Given the description of an element on the screen output the (x, y) to click on. 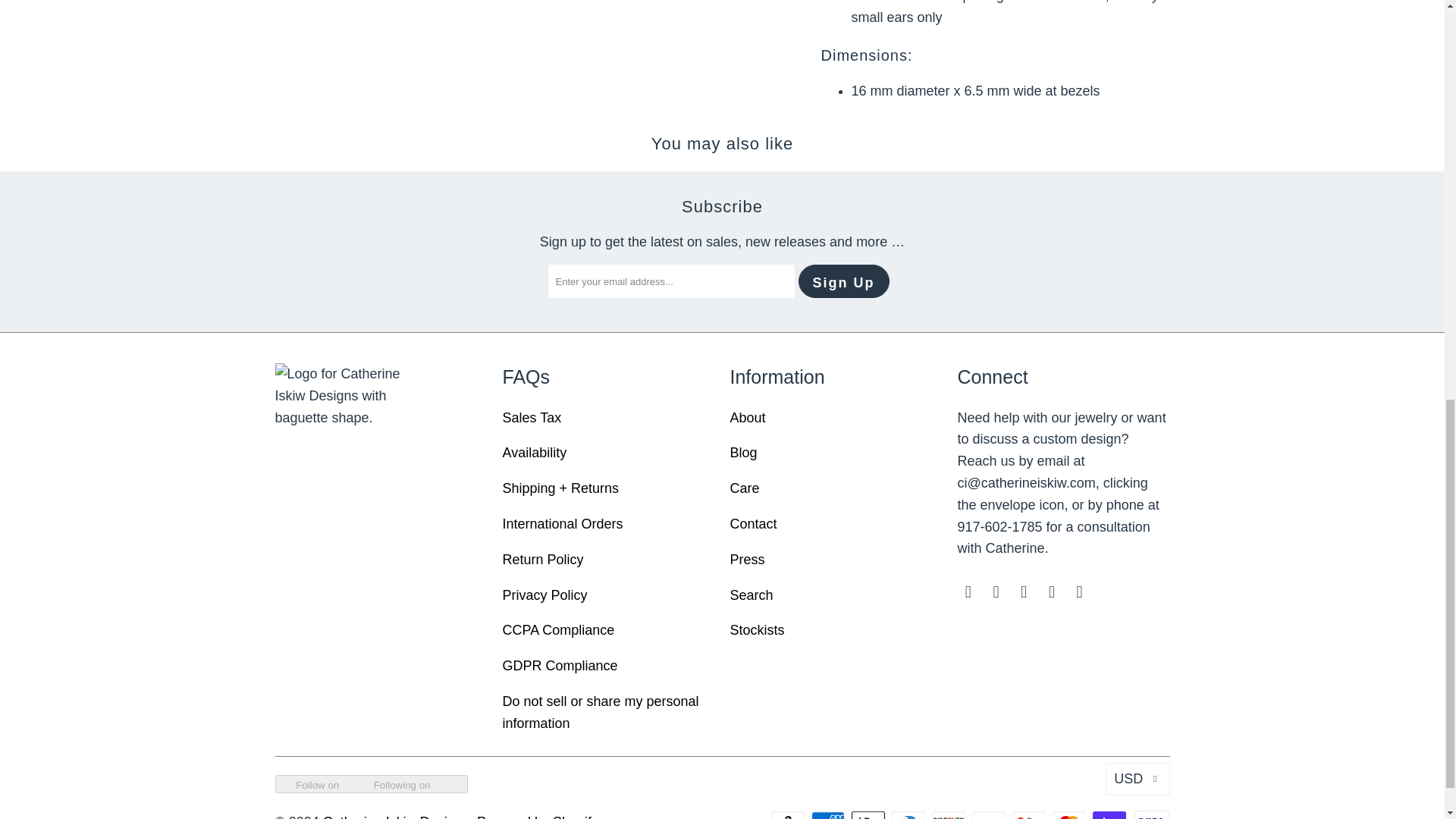
Catherine Iskiw Designs on Pinterest (1079, 592)
Sign Up (842, 281)
Catherine Iskiw Designs on Instagram (1024, 592)
Shop Pay (1111, 814)
American Express (828, 814)
Visa (1150, 814)
Catherine Iskiw Designs on LinkedIn (1052, 592)
Google Pay (1029, 814)
Amazon (789, 814)
Apple Pay (869, 814)
Diners Club (909, 814)
Catherine Iskiw Designs on Facebook (996, 592)
Email Catherine Iskiw Designs (967, 592)
Discover (949, 814)
Mastercard (1070, 814)
